Given the description of an element on the screen output the (x, y) to click on. 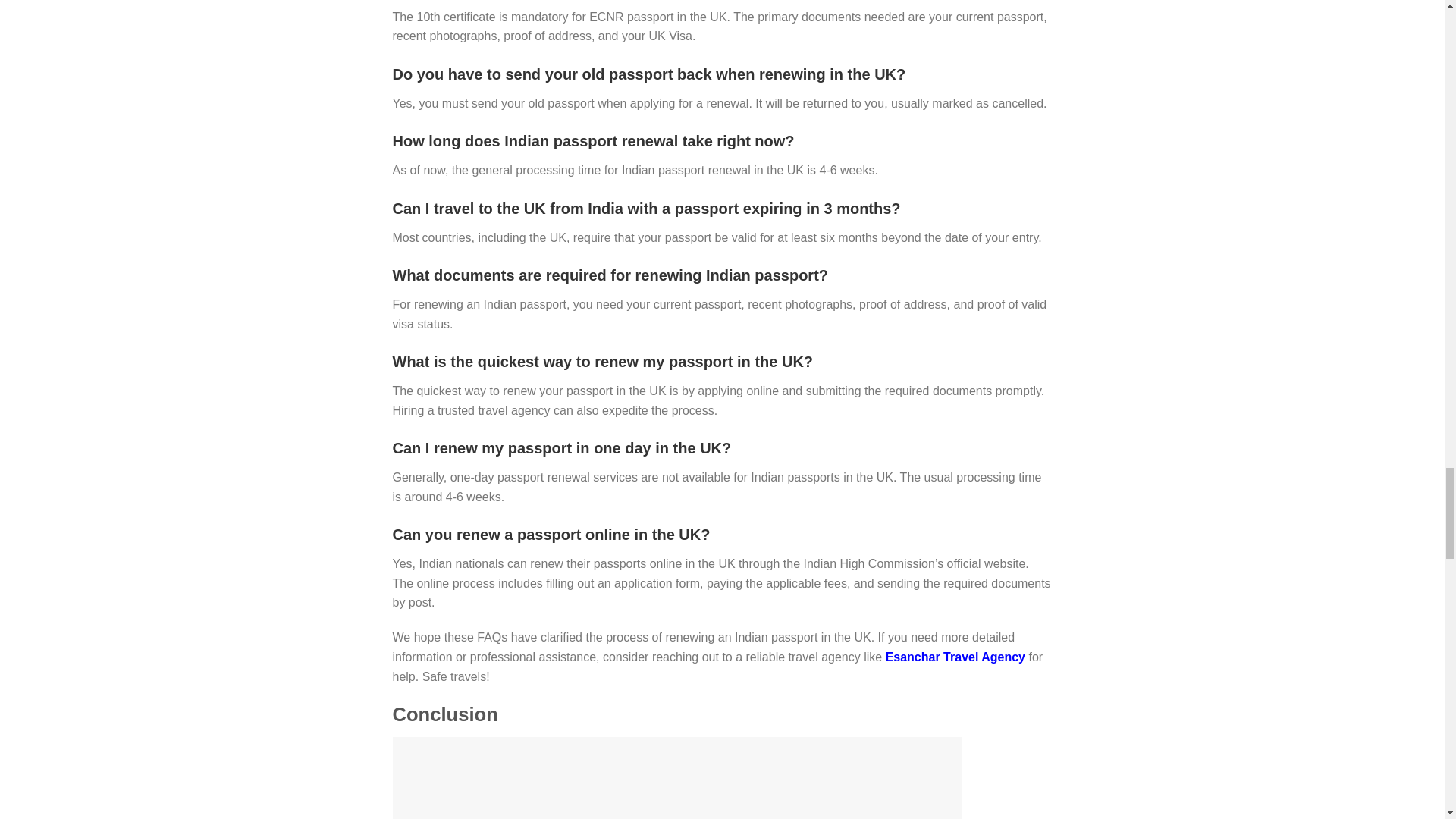
Esanchar Travel Agency (955, 656)
